Given the description of an element on the screen output the (x, y) to click on. 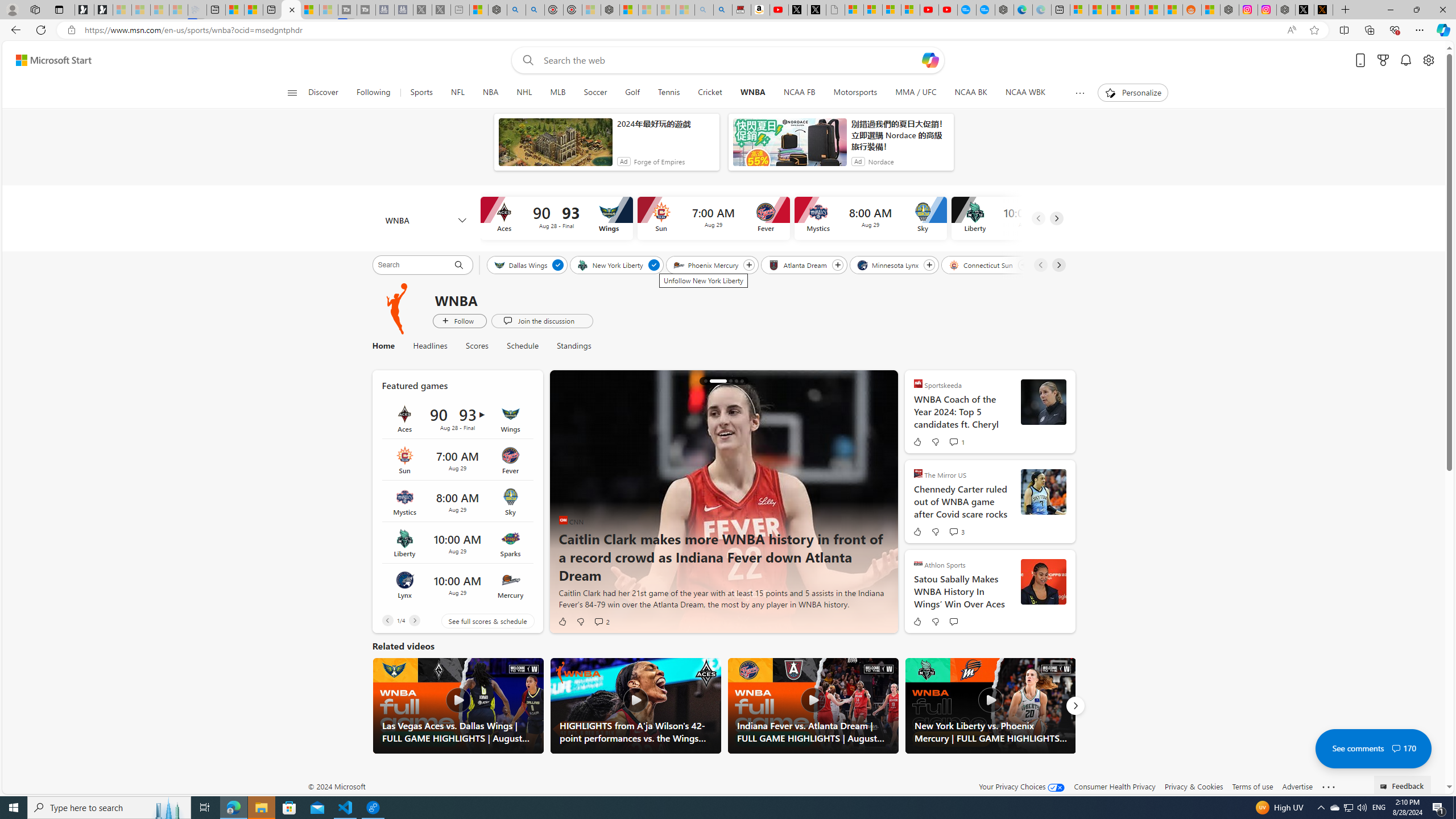
Terms of use (1252, 785)
AP24240070514970.jpg</img (723, 501)
Scores (476, 345)
Your Privacy Choices (1021, 785)
Like (916, 621)
Follow Phoenix Mercury (749, 265)
CNN (563, 519)
Sun vs Fever Time 7:00 AM Date Aug 29 (456, 459)
Soccer (595, 92)
Unfollow New York Liberty (653, 265)
Connecticut Sun (982, 264)
View comments 1 Comment (956, 441)
YouTube Kids - An App Created for Kids to Explore Content (947, 9)
